Given the description of an element on the screen output the (x, y) to click on. 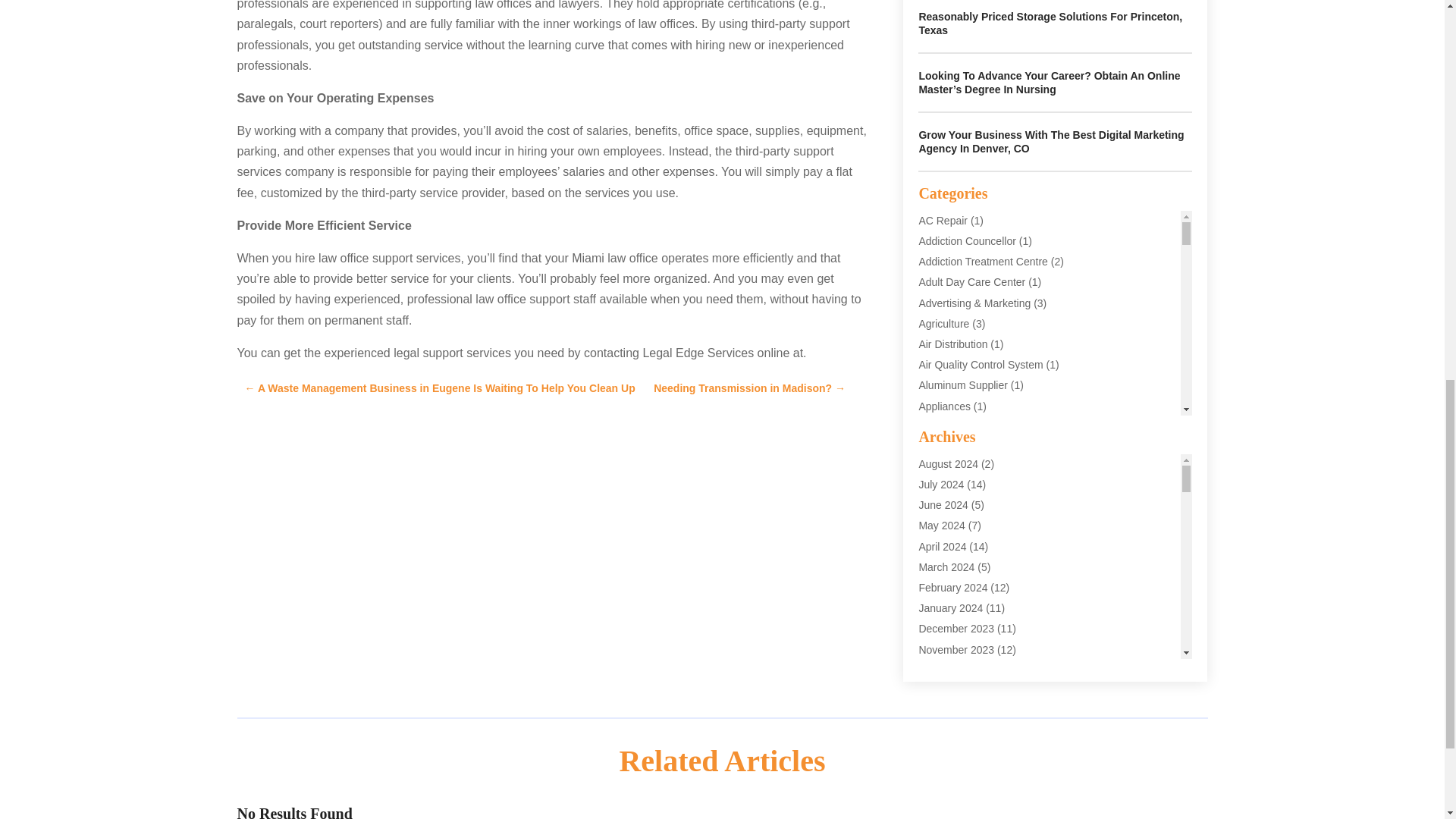
Asbestos (940, 447)
AC Repair (943, 220)
Air Distribution (952, 344)
Asphalt Contractor (962, 467)
Automotive (944, 550)
Appliances (944, 406)
Audio Installation (958, 508)
Adult Day Care Center (971, 282)
Air Quality Control System (980, 364)
Addiction Councellor (966, 241)
Addiction Treatment Centre (982, 261)
Audiologist (944, 530)
Assisted Living (953, 488)
Aluminum Supplier (962, 385)
Reasonably Priced Storage Solutions For Princeton, Texas (1050, 23)
